Given the description of an element on the screen output the (x, y) to click on. 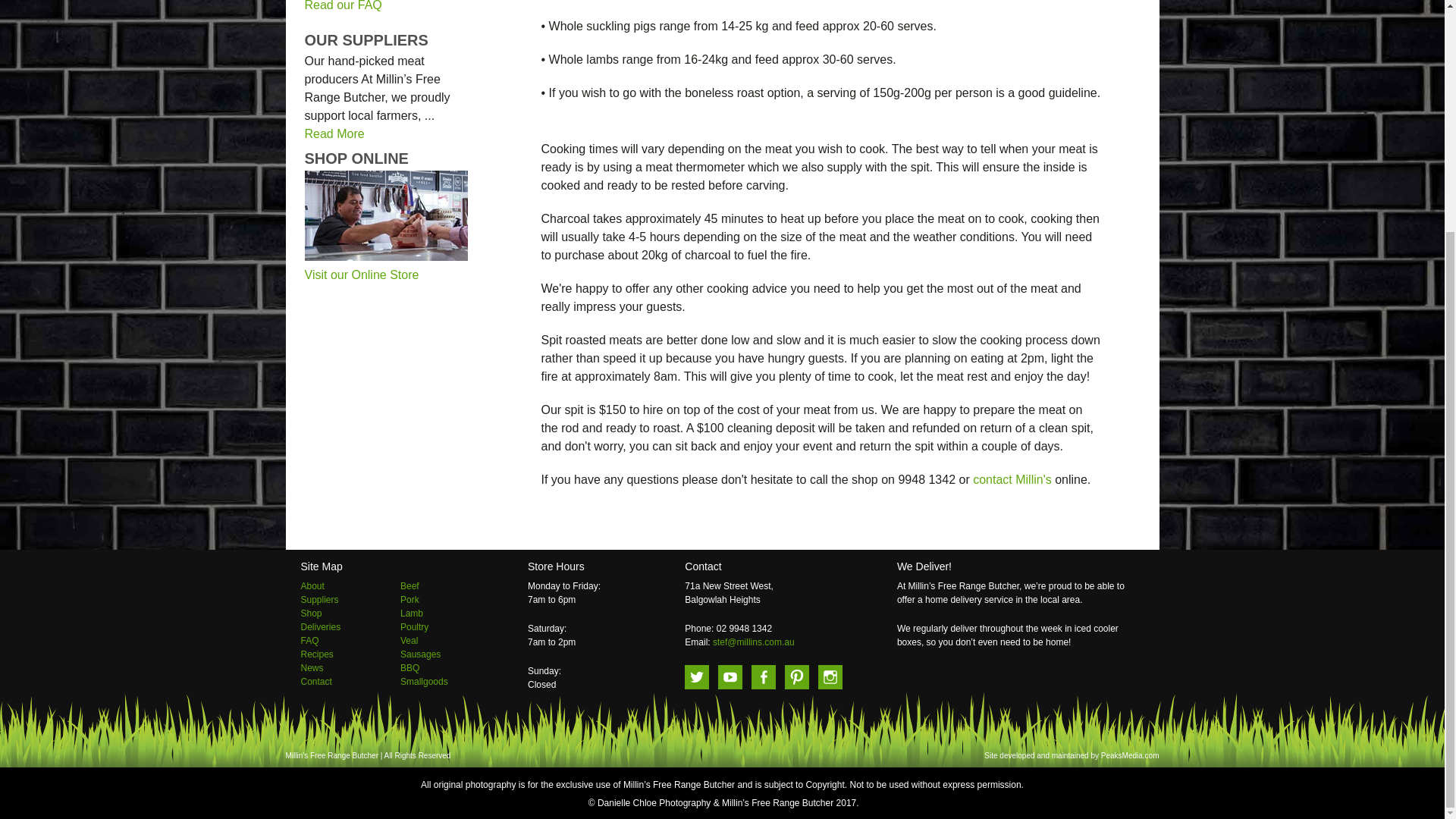
Facebook (763, 677)
Youtube (729, 677)
Twitter (696, 677)
View the Frequently Asked Questions (342, 5)
Pinterest (796, 677)
Instagram (830, 677)
Online Butcher Shop (361, 274)
